Given the description of an element on the screen output the (x, y) to click on. 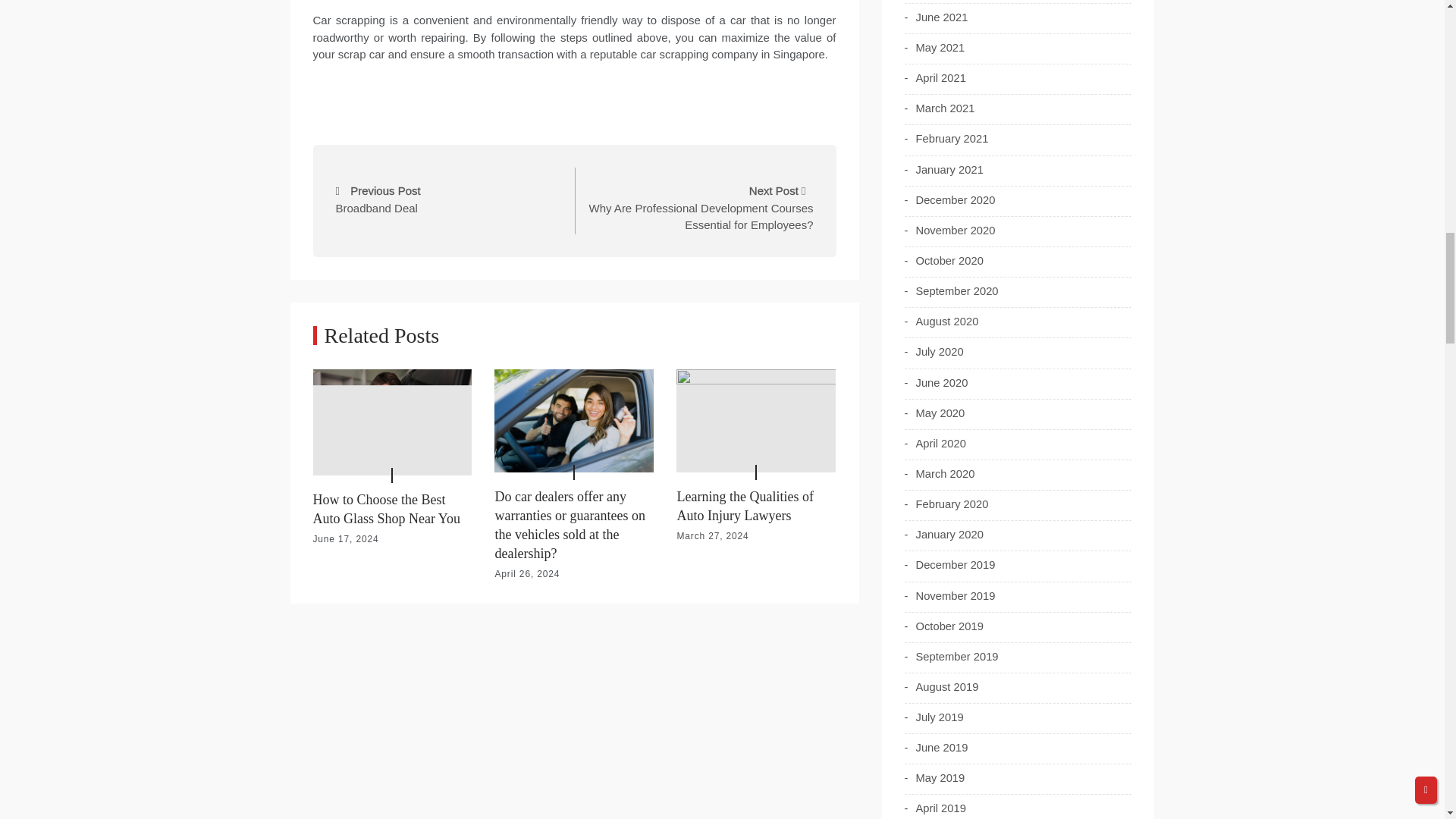
How to Choose the Best Auto Glass Shop Near You (386, 509)
Learning the Qualities of Auto Injury Lawyers (744, 505)
